Given the description of an element on the screen output the (x, y) to click on. 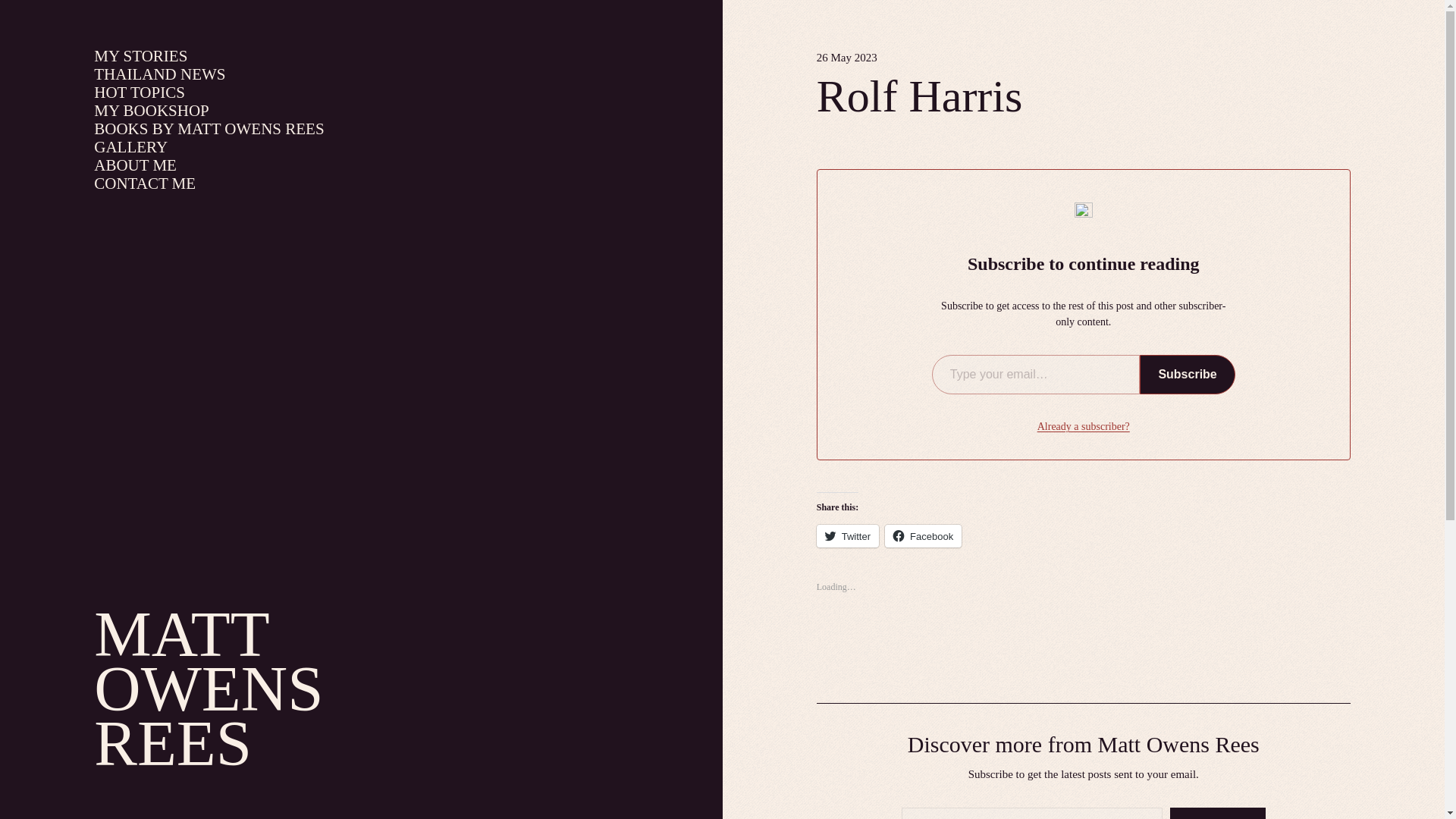
Subscribe (1217, 812)
BOOKS BY MATT OWENS REES (208, 129)
Click to share on Facebook (922, 535)
MY BOOKSHOP (151, 110)
GALLERY (130, 147)
ABOUT ME (135, 165)
Subscribe (1187, 374)
MY STORIES (140, 56)
Twitter (847, 535)
Already a subscriber? (1082, 426)
